Given the description of an element on the screen output the (x, y) to click on. 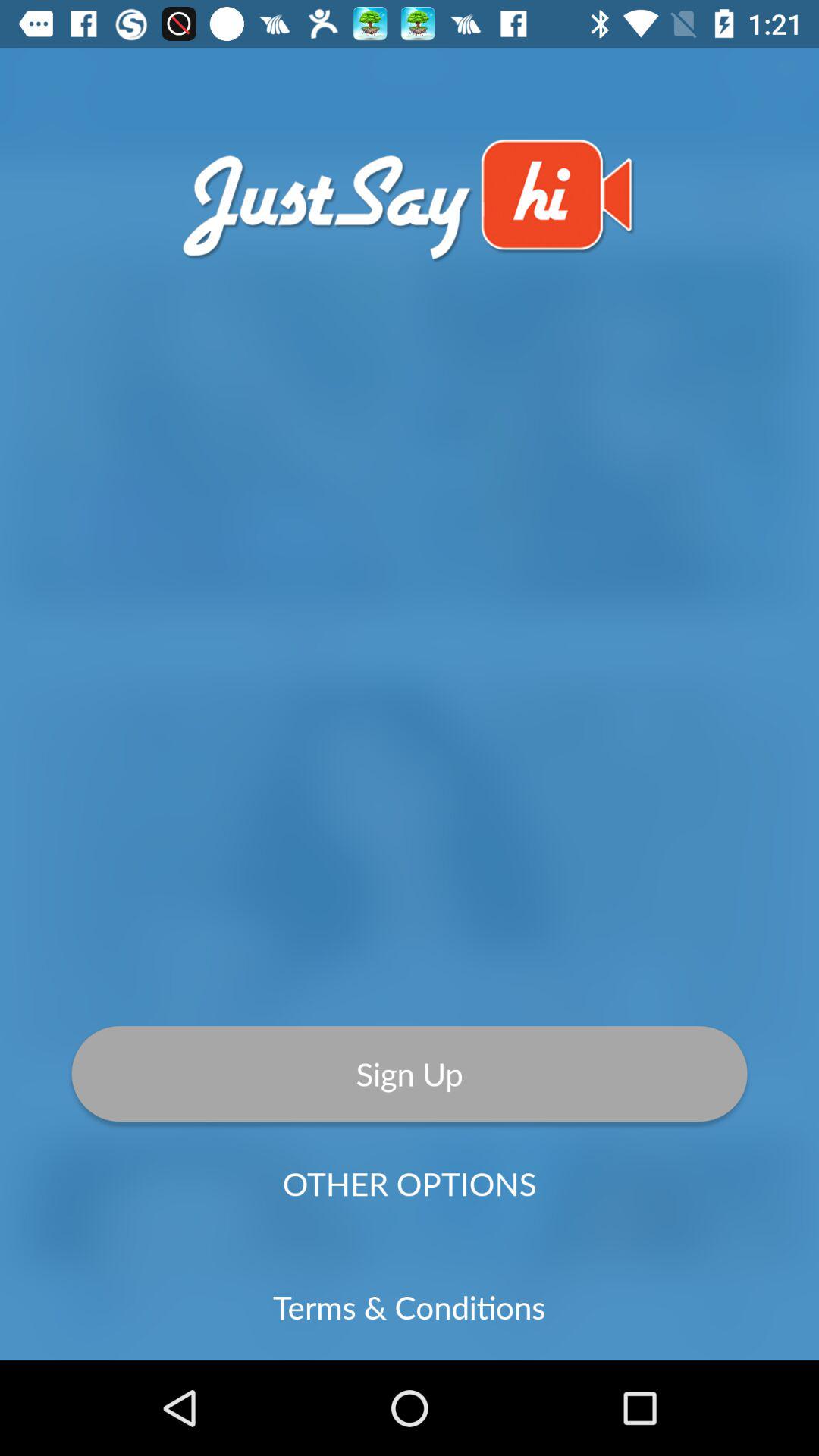
launch the item below the sign up item (409, 1183)
